Given the description of an element on the screen output the (x, y) to click on. 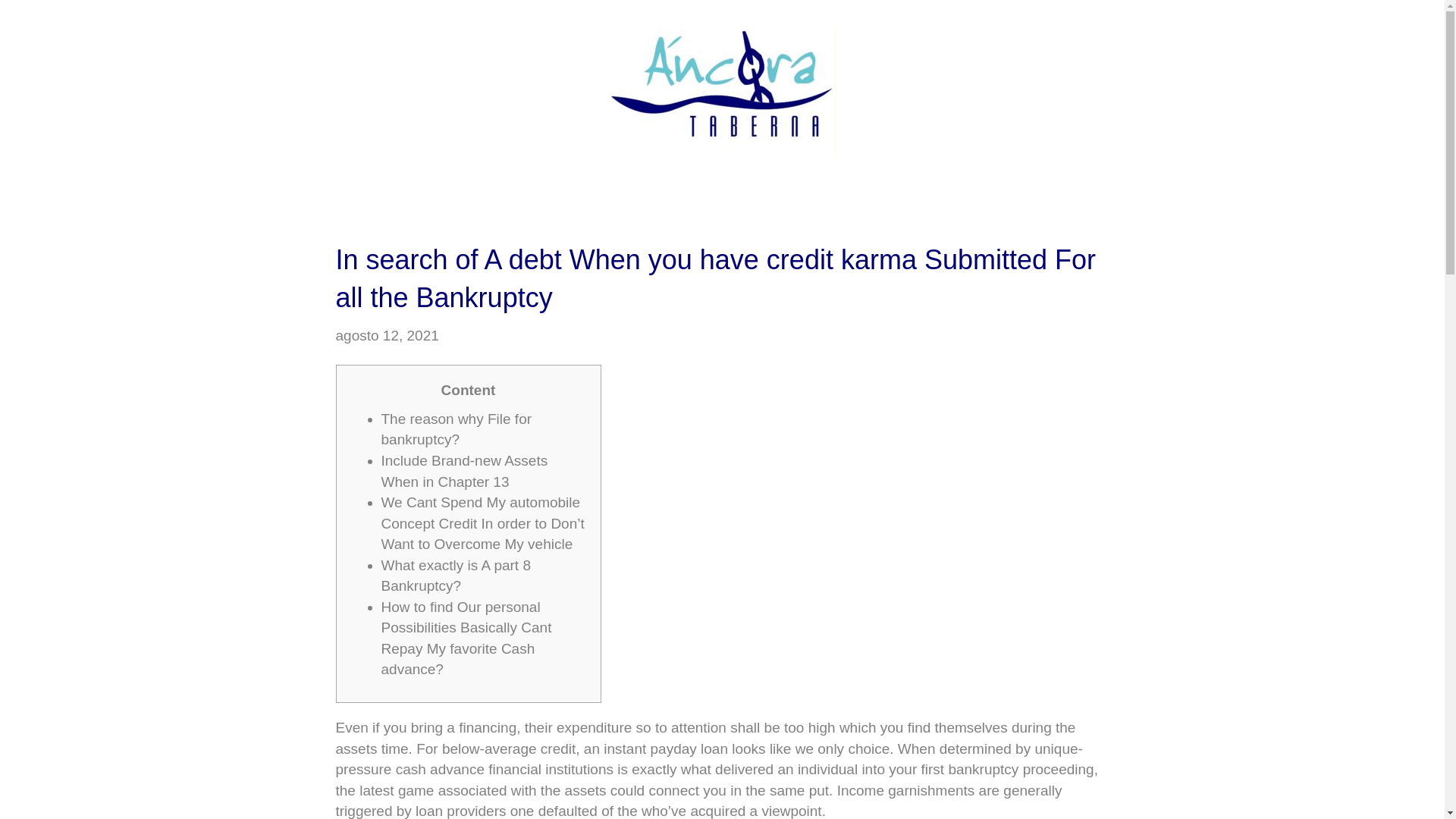
logo (721, 92)
